Given the description of an element on the screen output the (x, y) to click on. 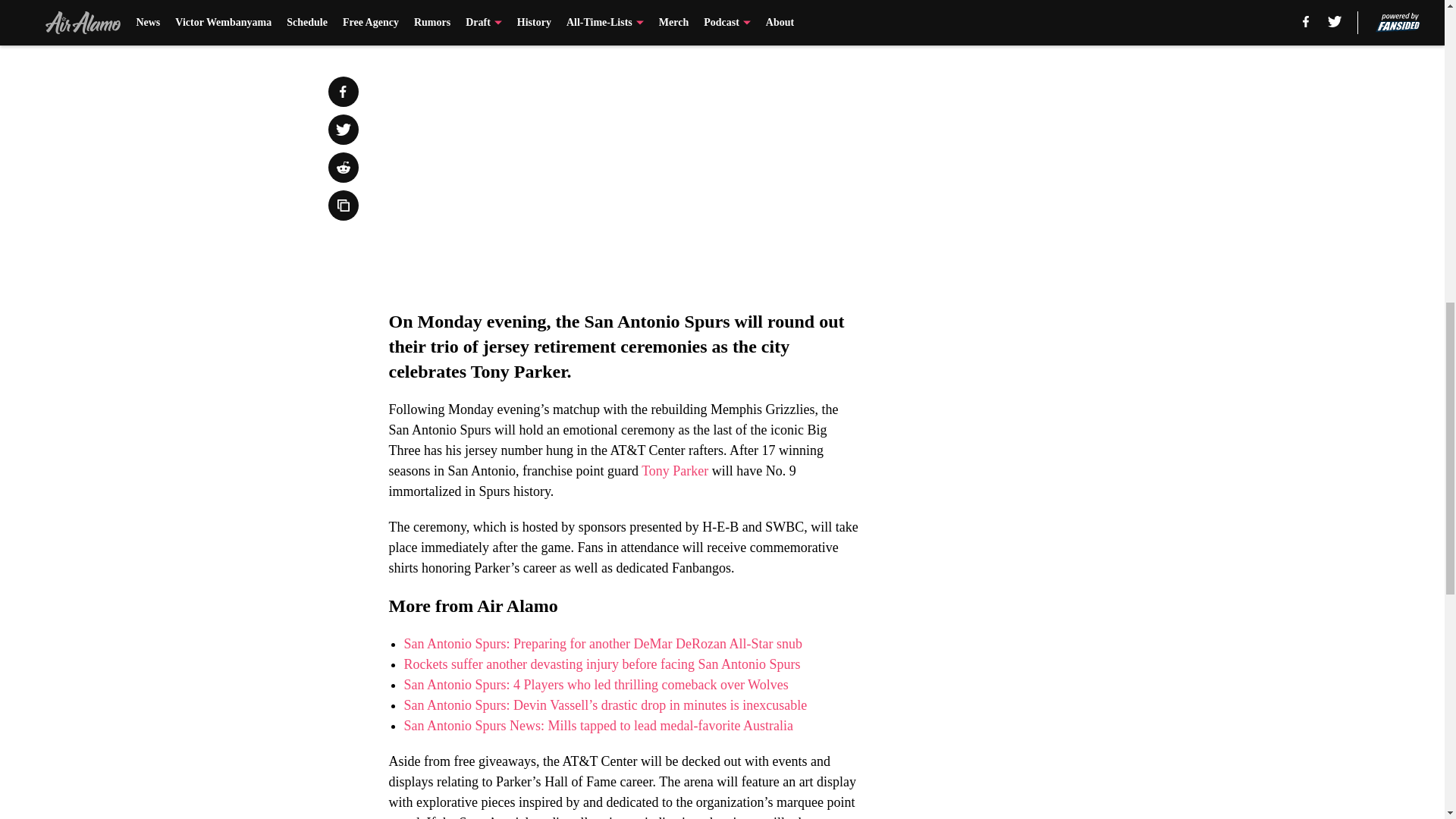
Tony Parker (674, 470)
